Given the description of an element on the screen output the (x, y) to click on. 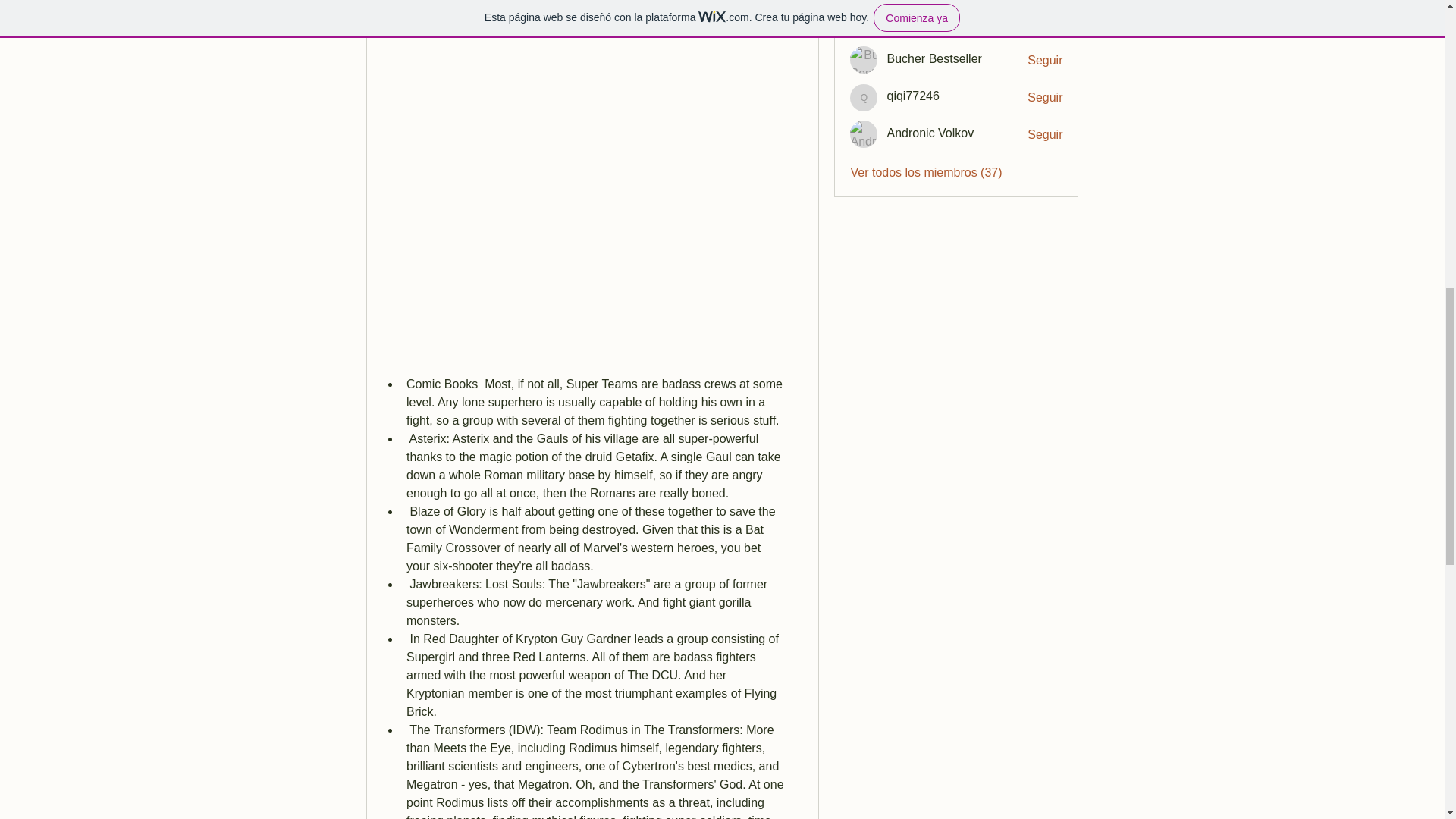
Seguir (1044, 23)
phambaokhang126 (938, 21)
Andronic Volkov (930, 132)
Bucher Bestseller (933, 58)
Seguir (1044, 60)
qiqi77246 (912, 95)
Bucher Bestseller (863, 59)
Seguir (1044, 134)
phambaokhang126 (938, 21)
Andronic Volkov (863, 134)
